Given the description of an element on the screen output the (x, y) to click on. 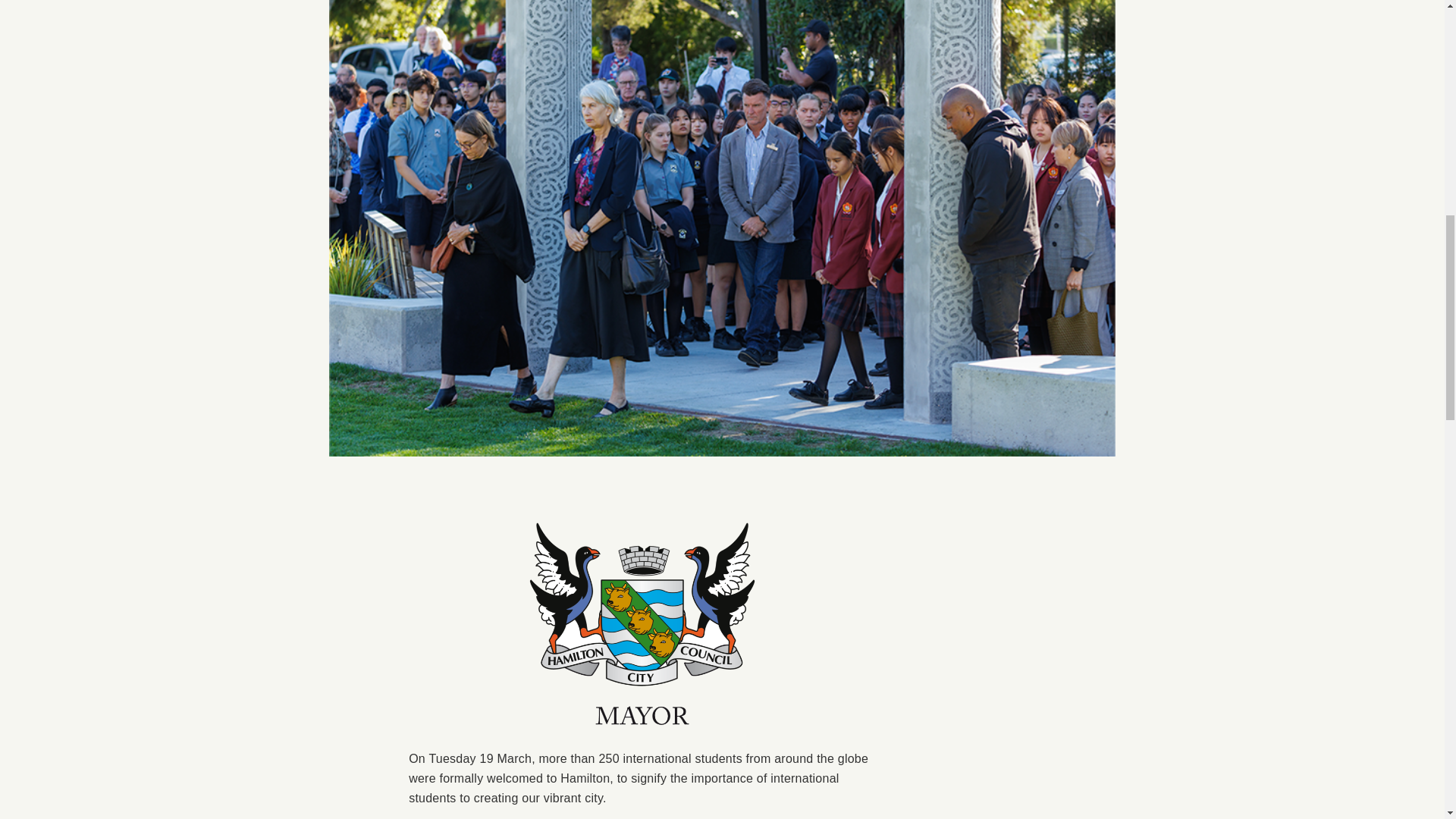
Cemeteries (425, 340)
Dogs and other animals (425, 444)
Environment and sustainability (425, 495)
Cemeteries (425, 340)
Hamilton City Council (324, 184)
home page (324, 184)
Community support and funding (425, 392)
Arts and culture (425, 289)
Arts and culture (425, 289)
Licenses and permits (425, 547)
Dogs and other animals (425, 444)
Parking and transport (425, 598)
Community support and funding (425, 392)
